Given the description of an element on the screen output the (x, y) to click on. 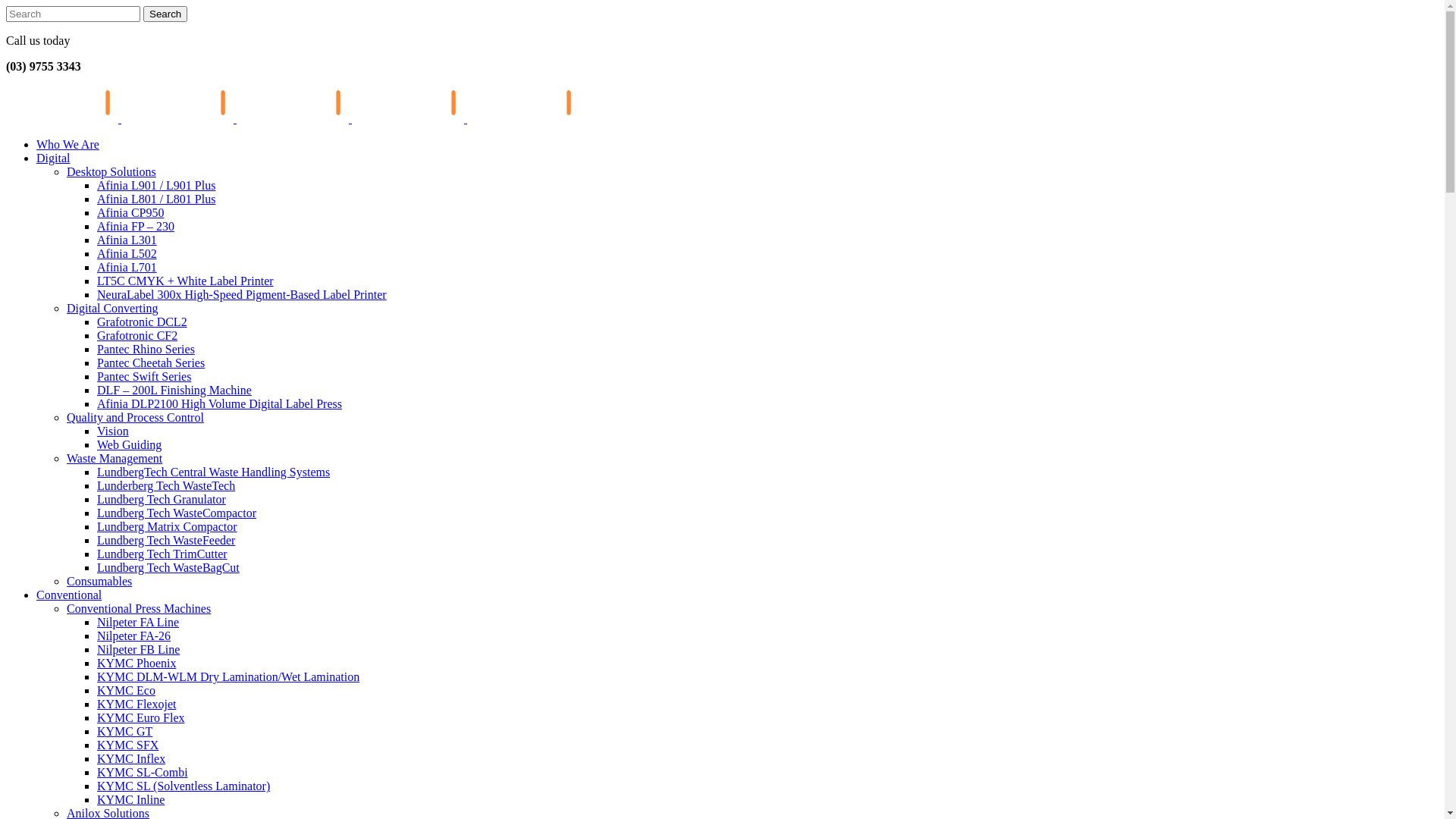
Afinia L701 Element type: text (126, 266)
Lundberg Tech WasteCompactor Element type: text (176, 512)
Grafotronic CF2 Element type: text (137, 335)
Lundberg Tech WasteFeeder Element type: text (166, 539)
Pantec Rhino Series Element type: text (145, 348)
Lunderberg Tech WasteTech Element type: text (166, 485)
Pantec Swift Series Element type: text (144, 376)
KYMC Euro Flex Element type: text (141, 717)
Desktop Solutions Element type: text (111, 171)
Who We Are Element type: text (67, 144)
Lundberg Tech TrimCutter Element type: text (162, 553)
Digital Element type: text (52, 157)
KYMC Flexojet Element type: text (136, 703)
KYMC Eco Element type: text (126, 690)
Search Element type: text (165, 13)
Quality and Process Control Element type: text (134, 417)
NeuraLabel 300x High-Speed Pigment-Based Label Printer Element type: text (241, 294)
Pantec Cheetah Series Element type: text (150, 362)
Afinia DLP2100 High Volume Digital Label Press Element type: text (219, 403)
Afinia L801 / L801 Plus Element type: text (156, 198)
Web Guiding Element type: text (129, 444)
Digital Converting Element type: text (111, 307)
KYMC SL-Combi Element type: text (142, 771)
KYMC SL (Solventless Laminator) Element type: text (183, 785)
Lundberg Tech Granulator Element type: text (161, 498)
Grafotronic DCL2 Element type: text (142, 321)
Afinia L901 / L901 Plus Element type: text (156, 184)
Nilpeter FA-26 Element type: text (133, 635)
Conventional Press Machines Element type: text (138, 608)
Consumables Element type: text (98, 580)
Waste Management Element type: text (114, 457)
Lundberg Matrix Compactor Element type: text (167, 526)
Afinia CP950 Element type: text (130, 212)
Afinia L502 Element type: text (126, 253)
Vision Element type: text (112, 430)
KYMC GT Element type: text (124, 730)
Nilpeter FB Line Element type: text (138, 649)
LT5C CMYK + White Label Printer Element type: text (185, 280)
KYMC Inflex Element type: text (131, 758)
Lundberg Tech WasteBagCut Element type: text (168, 567)
Conventional Element type: text (68, 594)
KYMC Phoenix Element type: text (136, 662)
LundbergTech Central Waste Handling Systems Element type: text (213, 471)
KYMC DLM-WLM Dry Lamination/Wet Lamination Element type: text (228, 676)
Nilpeter FA Line Element type: text (137, 621)
KYMC Inline Element type: text (130, 799)
Afinia L301 Element type: text (126, 239)
KYMC SFX Element type: text (127, 744)
